Given the description of an element on the screen output the (x, y) to click on. 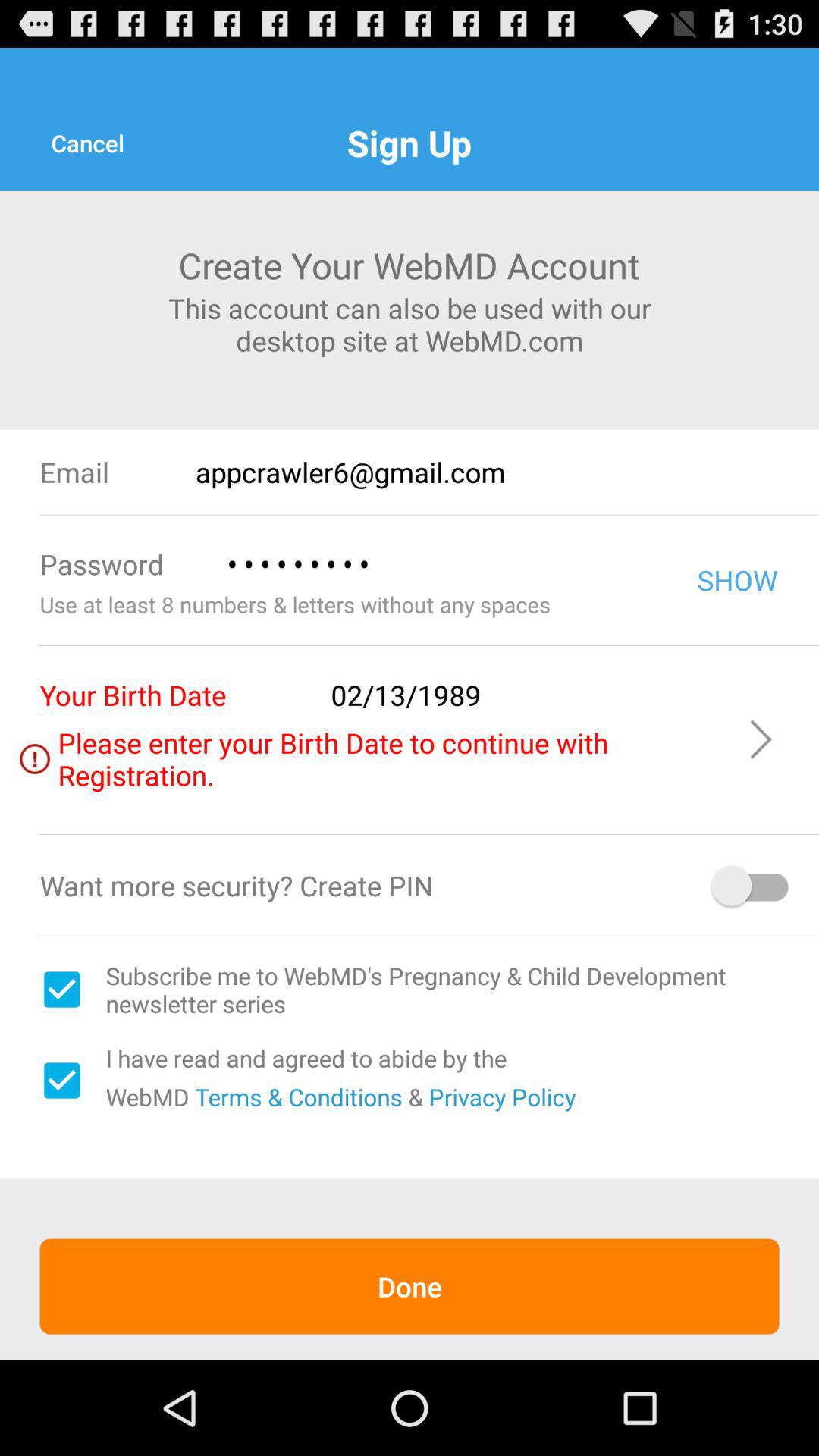
the check box (61, 1080)
